Given the description of an element on the screen output the (x, y) to click on. 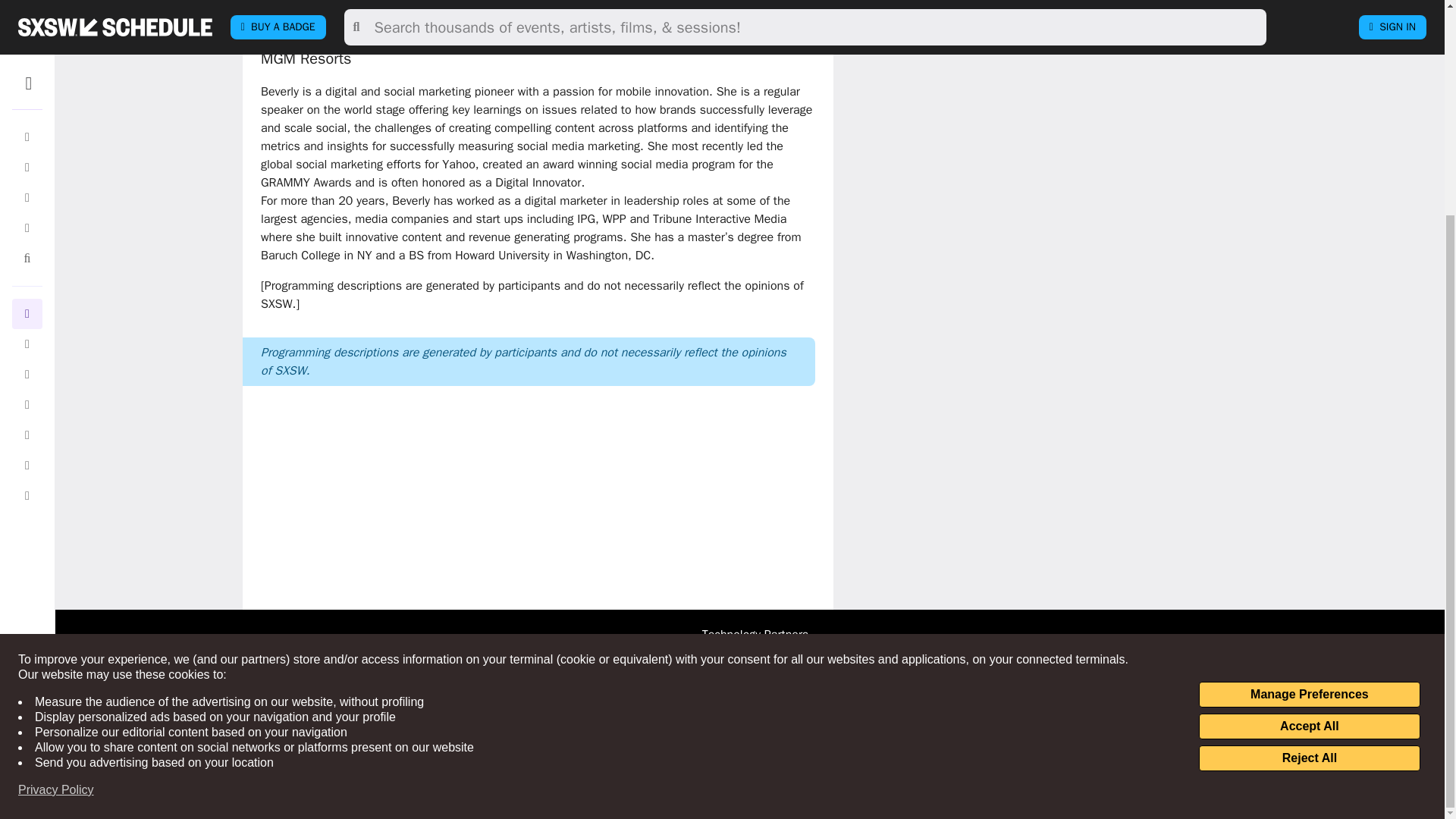
Reject All (1309, 475)
Privacy Policy (55, 507)
Accept All (1309, 444)
Manage Preferences (1309, 412)
